Given the description of an element on the screen output the (x, y) to click on. 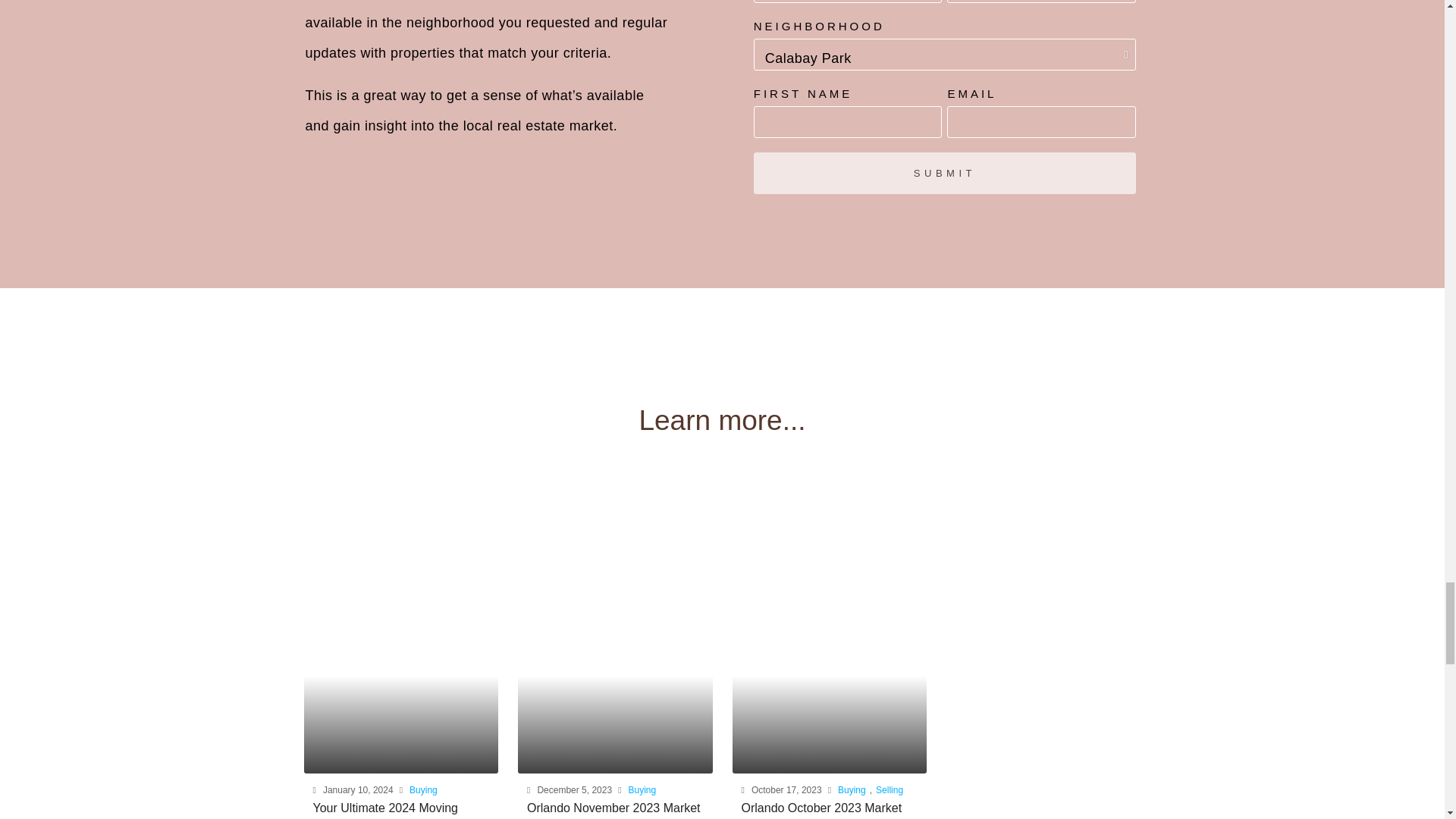
SUBMIT (944, 173)
